Given the description of an element on the screen output the (x, y) to click on. 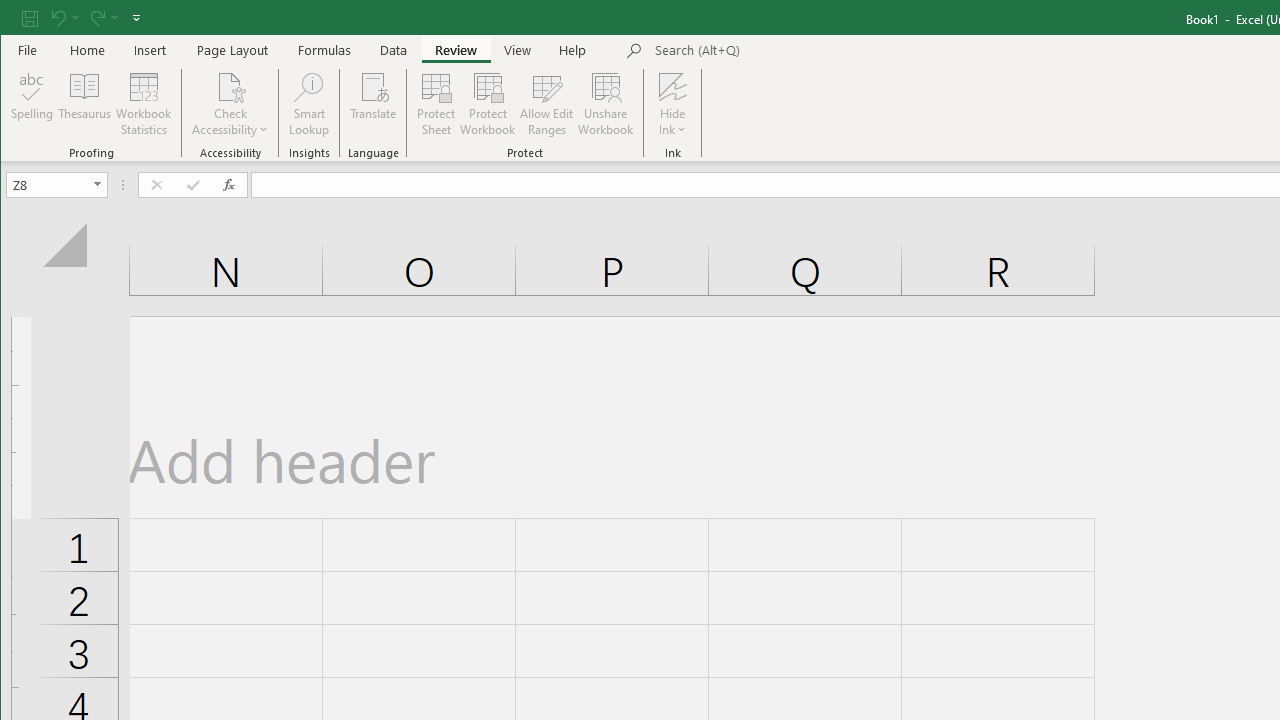
Data (394, 50)
Translate (373, 104)
Smart Lookup (308, 104)
Customize Quick Access Toolbar (136, 17)
Redo (96, 17)
Spelling... (32, 104)
Home (87, 50)
Formulas (325, 50)
Protect Sheet... (436, 104)
System (18, 18)
Workbook Statistics (143, 104)
Redo (102, 17)
System (18, 18)
Microsoft search (794, 51)
Check Accessibility (230, 104)
